Given the description of an element on the screen output the (x, y) to click on. 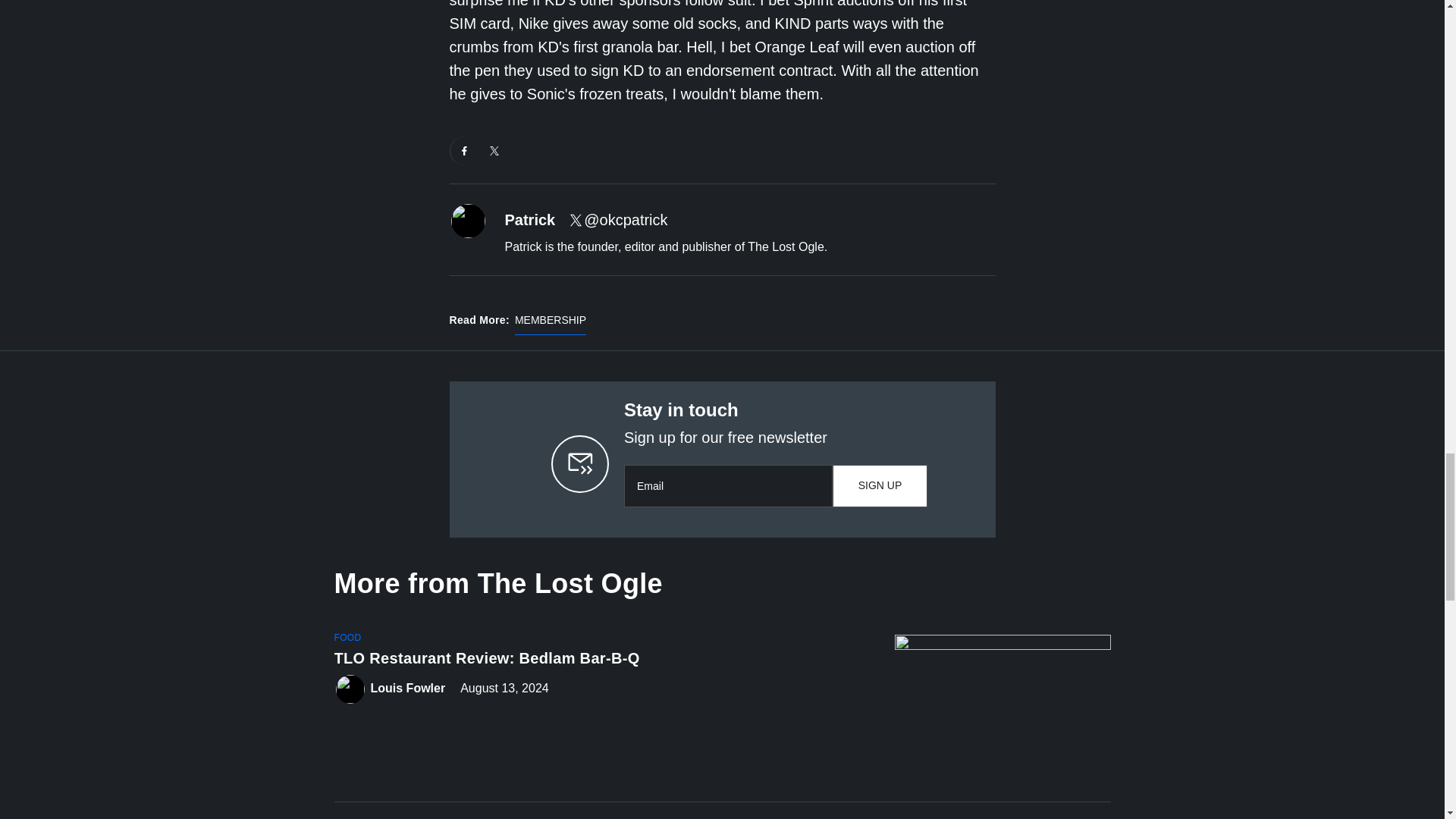
MEMBERSHIP (550, 323)
FOOD (347, 637)
SIGN UP (879, 485)
Patrick (530, 219)
Share on Facebook (464, 150)
TLO Restaurant Review: Bedlam Bar-B-Q (601, 661)
Louis Fowler (407, 688)
